Given the description of an element on the screen output the (x, y) to click on. 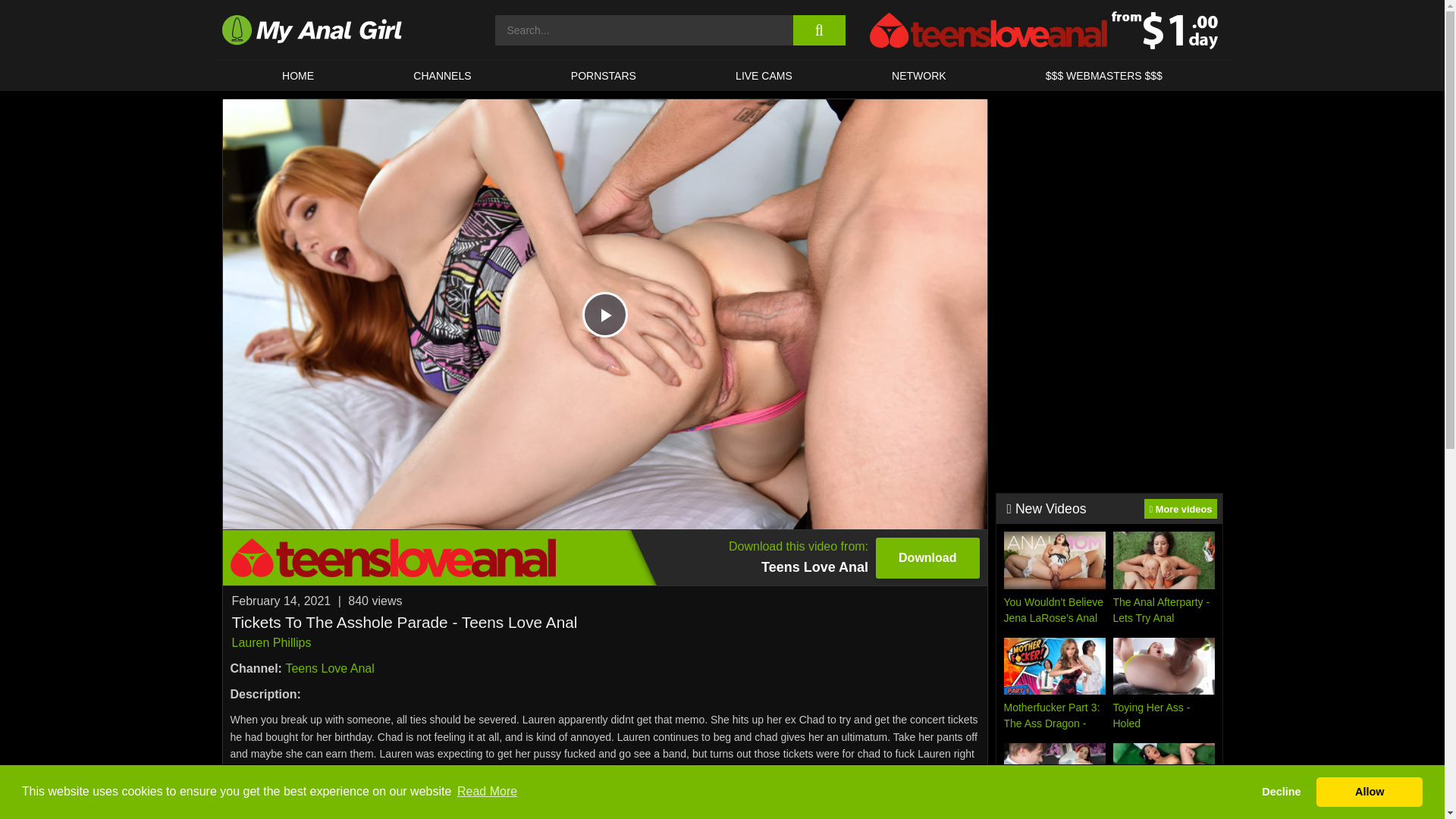
PORNSTARS (603, 75)
Read more (604, 798)
NETWORK (918, 75)
LIVE CAMS (763, 75)
HOME (296, 75)
Play Video (604, 313)
CHANNELS (604, 557)
Teens Love Anal (442, 75)
Lauren Phillips (329, 667)
